Given the description of an element on the screen output the (x, y) to click on. 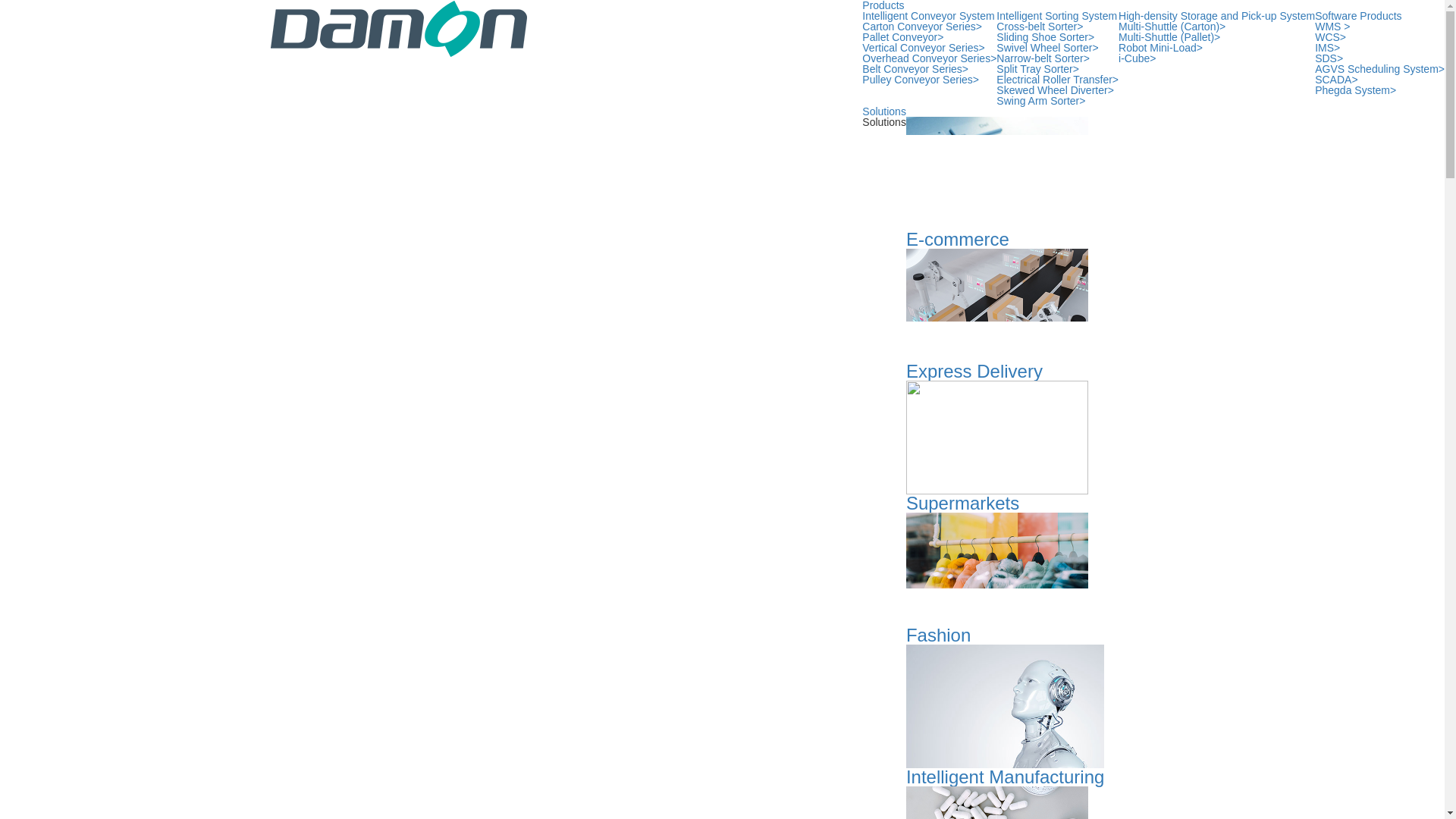
Pharmaceuticals (996, 802)
Solutions (883, 111)
E-commerce (996, 182)
Intelligent Manufacturing (1005, 715)
High-density Storage and Pick-up System (1216, 15)
Products (882, 5)
Intelligent Conveyor System (927, 15)
Express Delivery (996, 314)
Supermarkets (996, 446)
Fashion (996, 578)
Intelligent Sorting System (1055, 15)
Software Products (1357, 15)
